Given the description of an element on the screen output the (x, y) to click on. 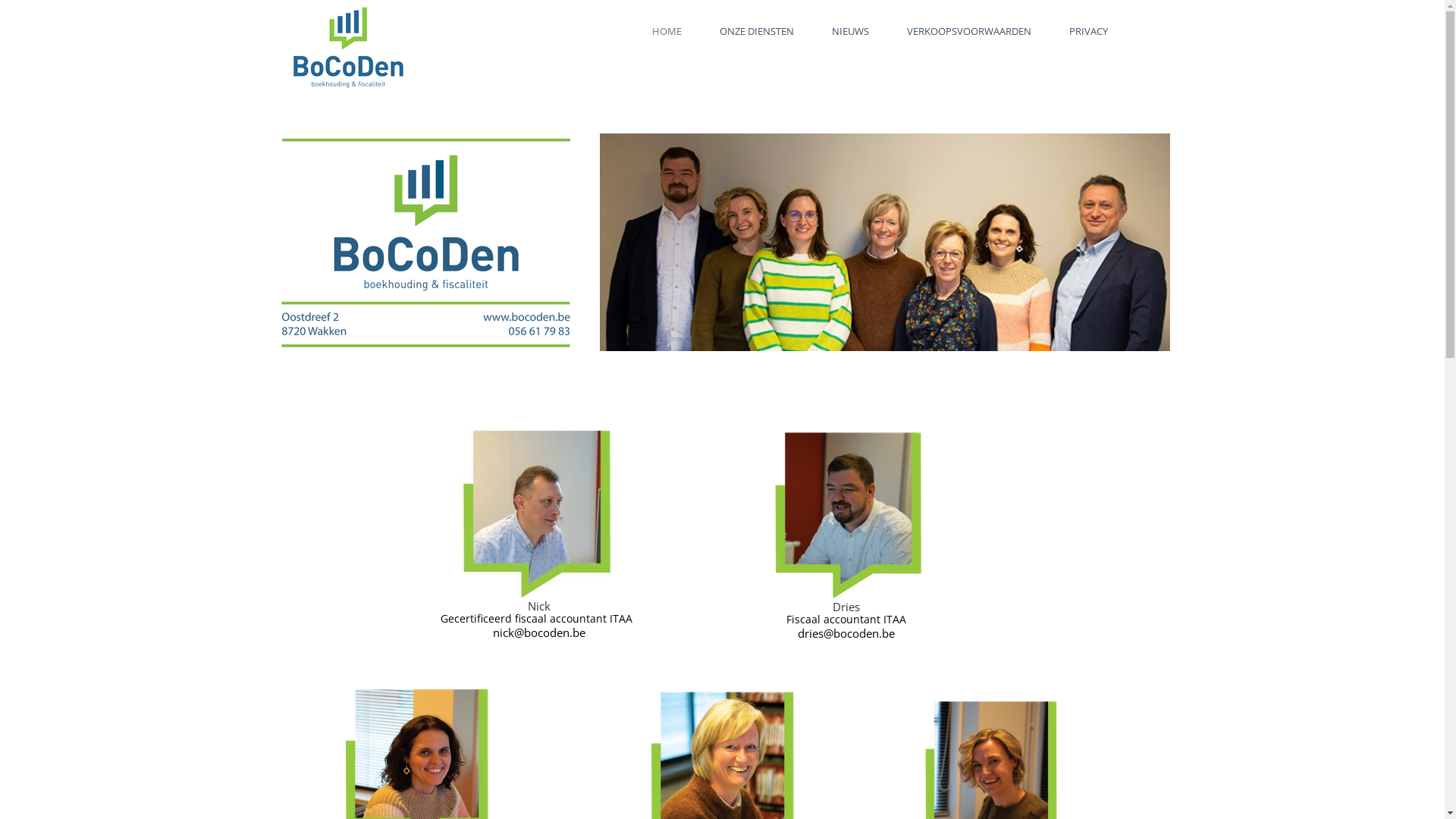
dries@bocoden.be Element type: text (845, 632)
ONZE DIENSTEN Element type: text (756, 30)
nick@bocoden.be Element type: text (538, 632)
NIEUWS Element type: text (850, 30)
PRIVACY Element type: text (1088, 30)
VERKOOPSVOORWAARDEN Element type: text (969, 30)
HOME Element type: text (666, 30)
